Given the description of an element on the screen output the (x, y) to click on. 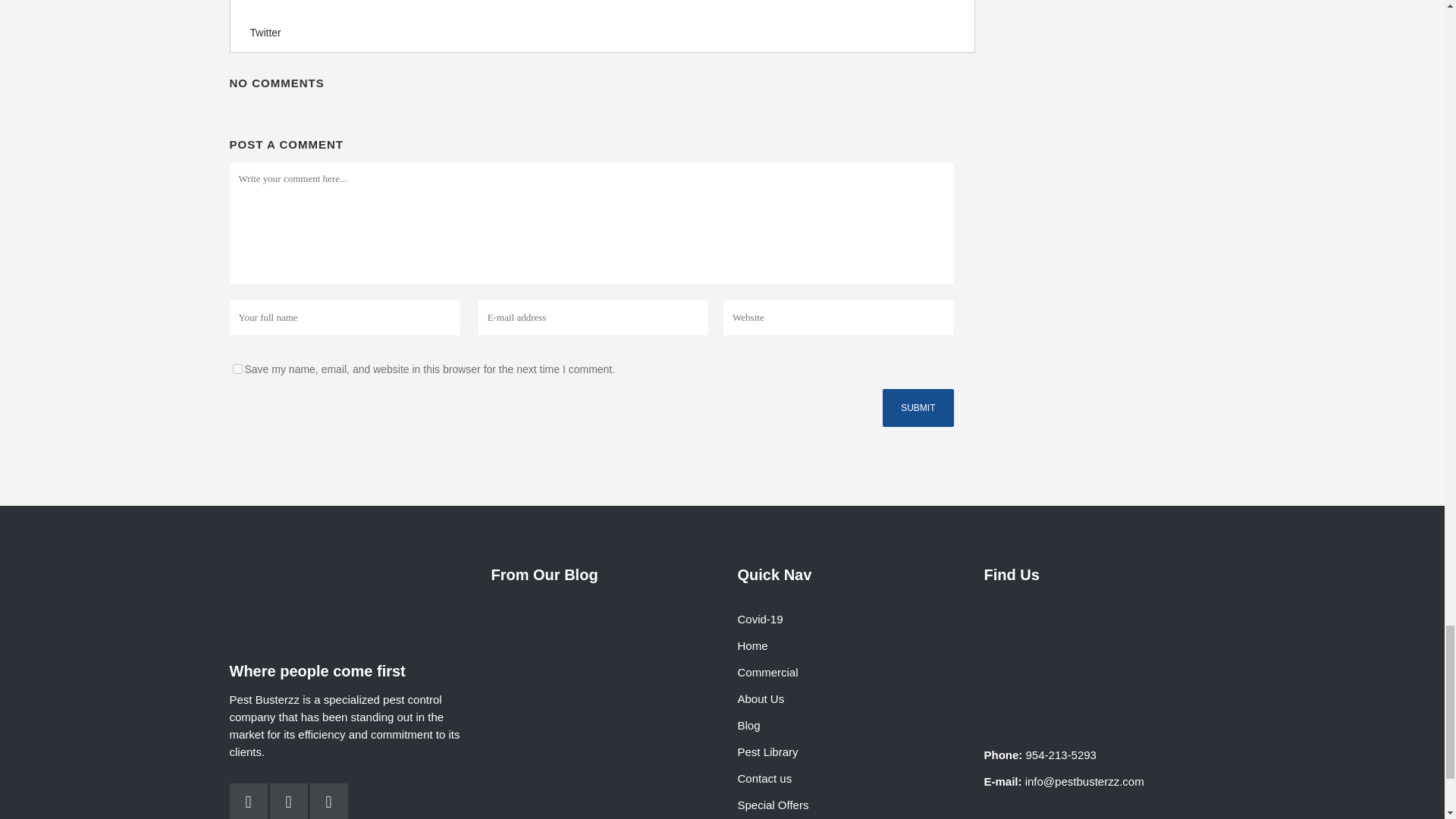
yes (236, 368)
Submit (917, 407)
Pest Busterzz (1099, 651)
